Given the description of an element on the screen output the (x, y) to click on. 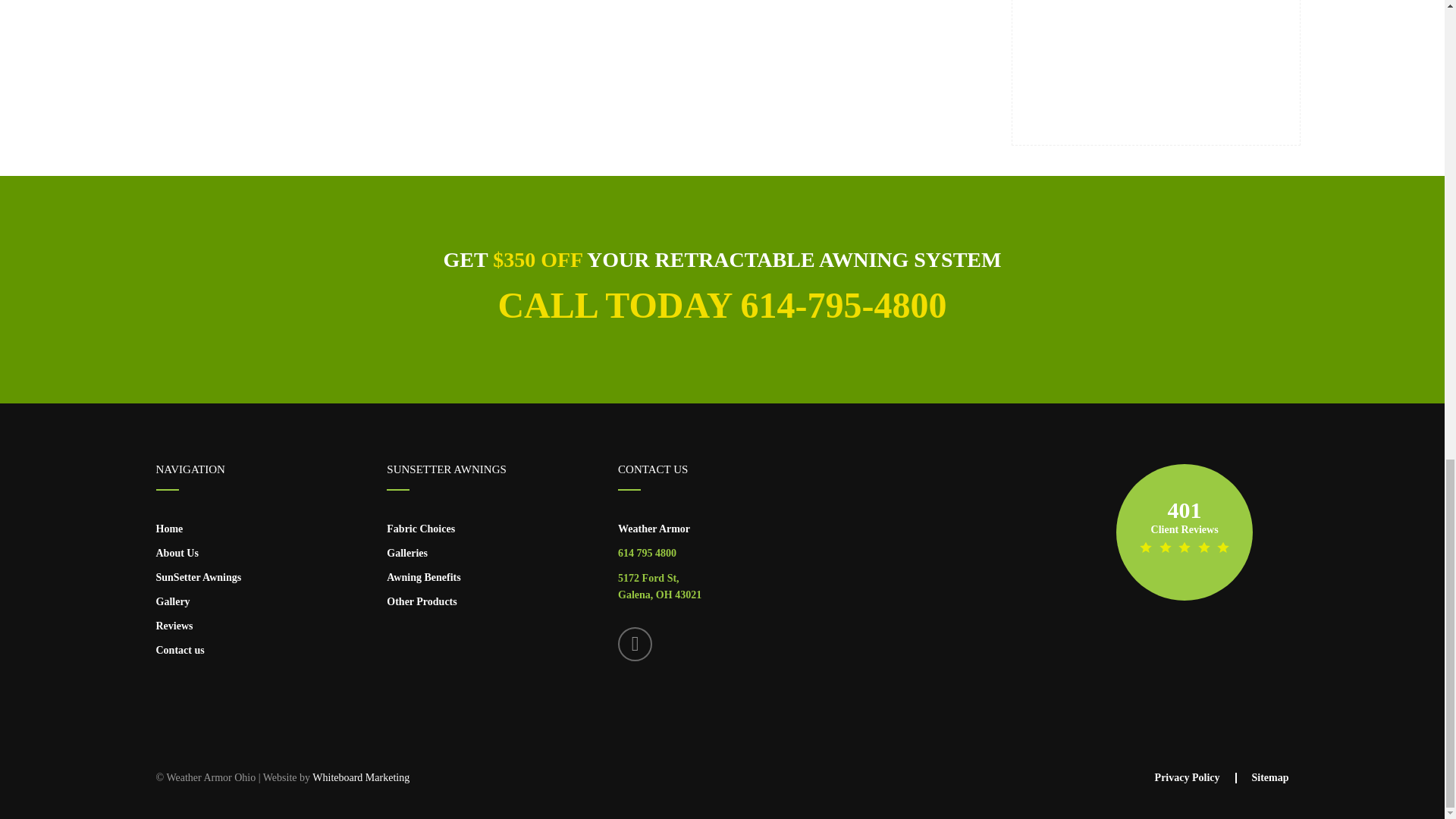
Sunsetter PRO (1136, 66)
